Given the description of an element on the screen output the (x, y) to click on. 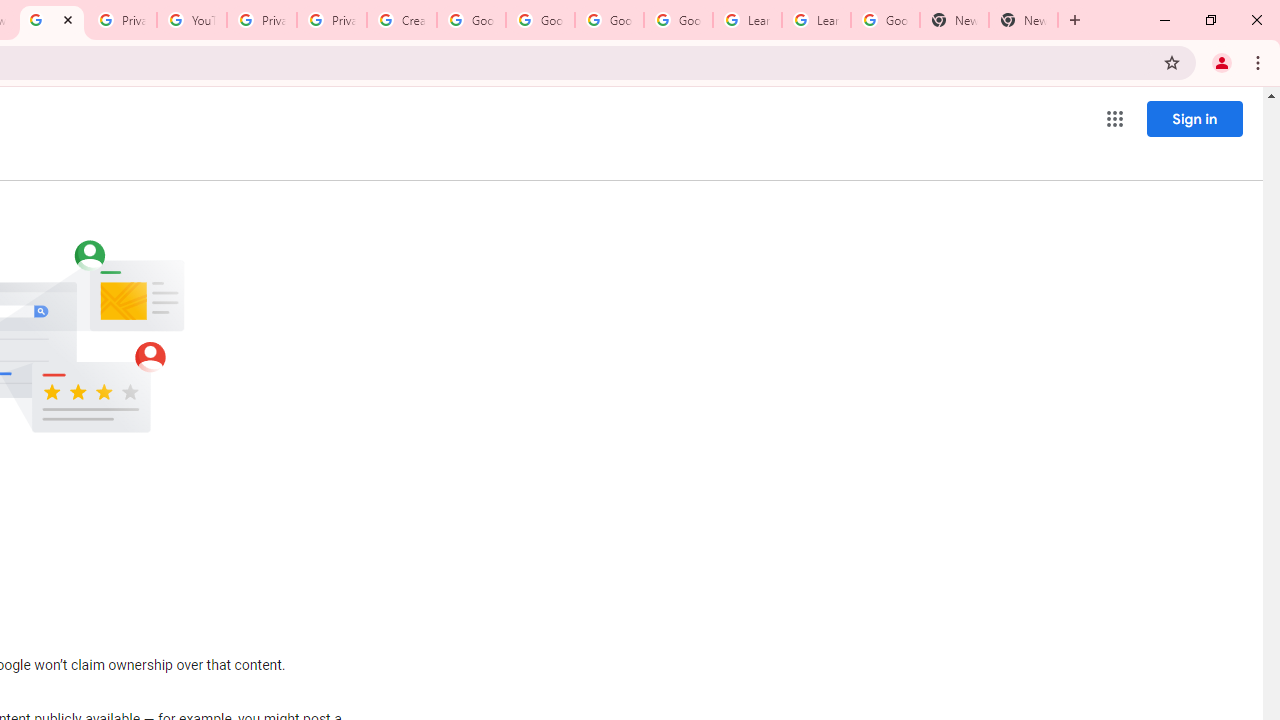
Google Account Help (539, 20)
New Tab (1023, 20)
Google Account Help (677, 20)
Google Account Help (608, 20)
Create your Google Account (401, 20)
Google Account (885, 20)
Google Account Help (470, 20)
